Given the description of an element on the screen output the (x, y) to click on. 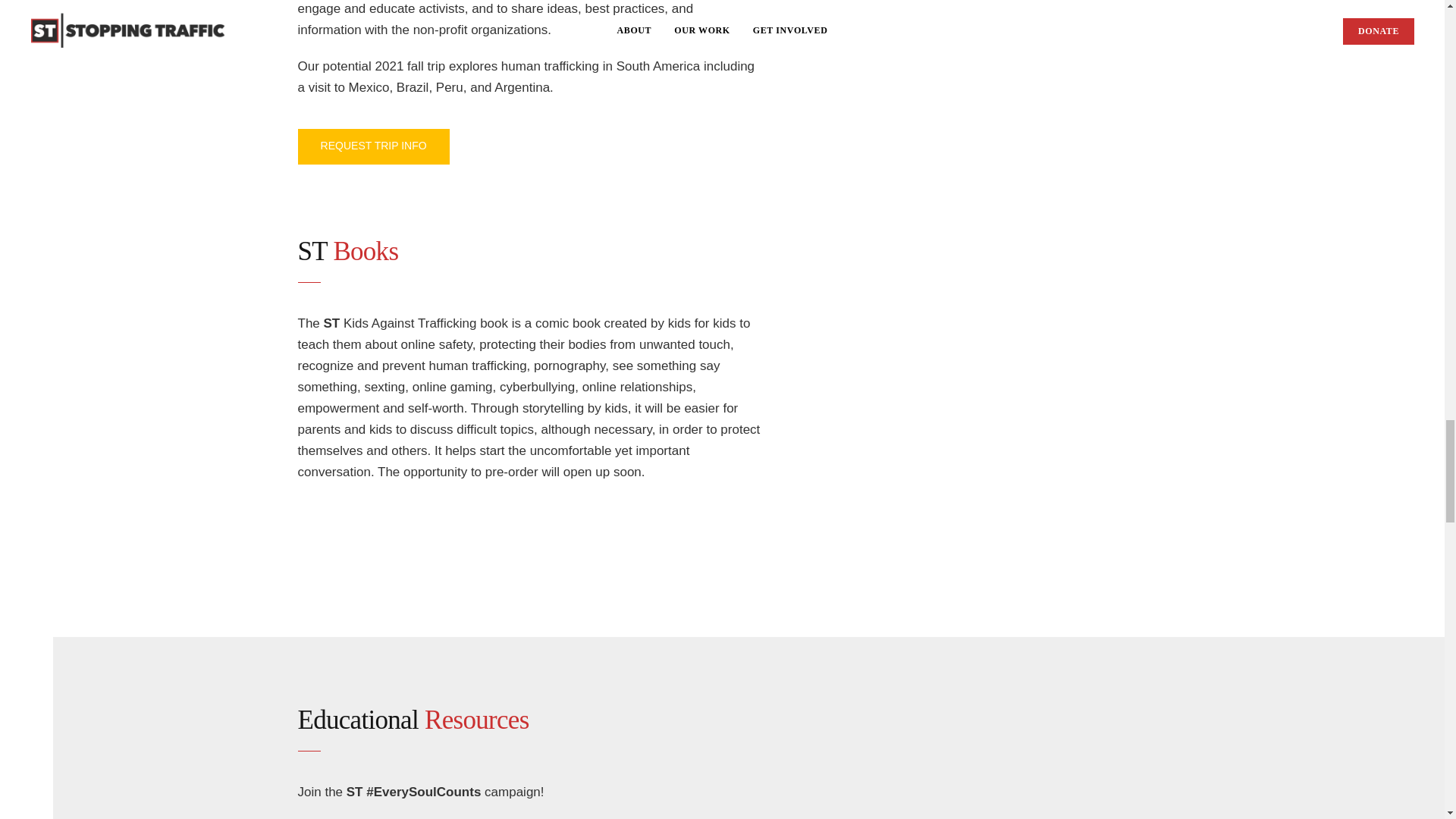
REQUEST TRIP INFO (372, 146)
